Given the description of an element on the screen output the (x, y) to click on. 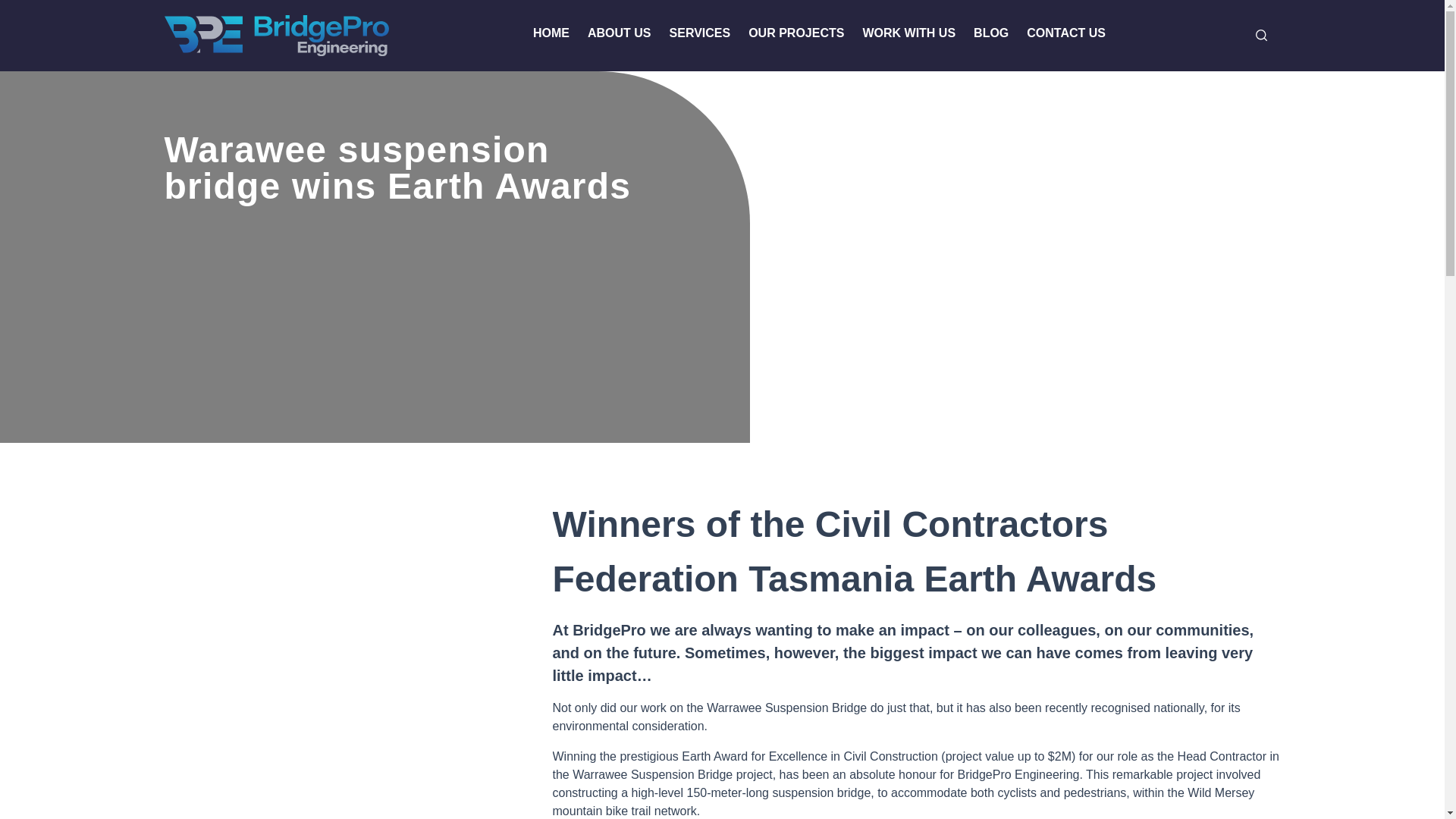
ABOUT US (619, 35)
BridgePro Engineering (275, 35)
WORK WITH US (908, 35)
CONTACT US (1065, 35)
OUR PROJECTS (796, 35)
